Given the description of an element on the screen output the (x, y) to click on. 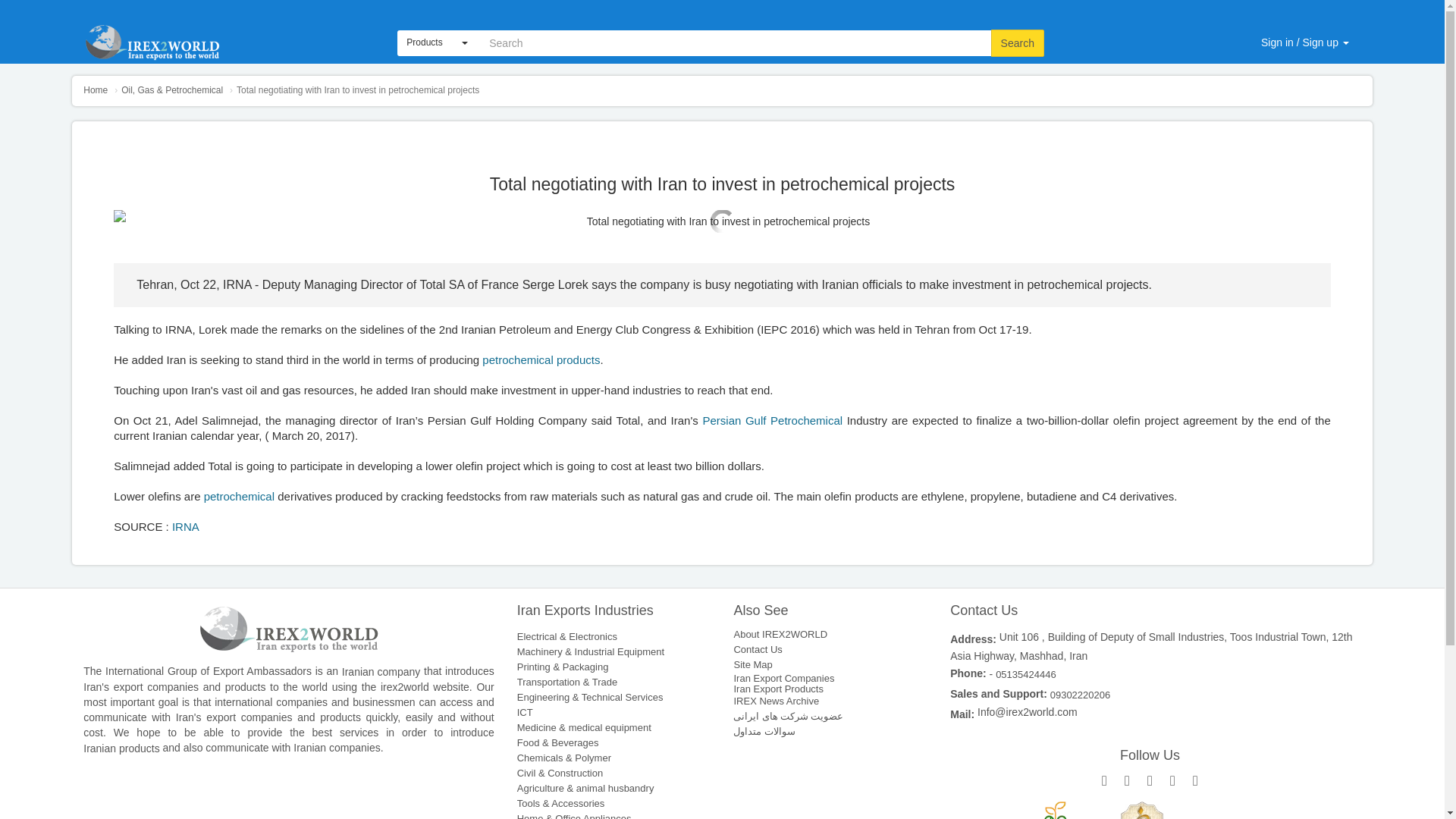
Persian Gulf Petrochemical (772, 420)
petrochemical (240, 495)
Blog (1062, 4)
English (1315, 4)
IRNA (185, 526)
For Buyer (1233, 4)
Home (94, 90)
Products (437, 42)
Video Gallery (1001, 4)
Search (1017, 42)
Iran's export statistics (1141, 4)
Site map (930, 4)
petrochemical products (540, 359)
About us (869, 4)
